Given the description of an element on the screen output the (x, y) to click on. 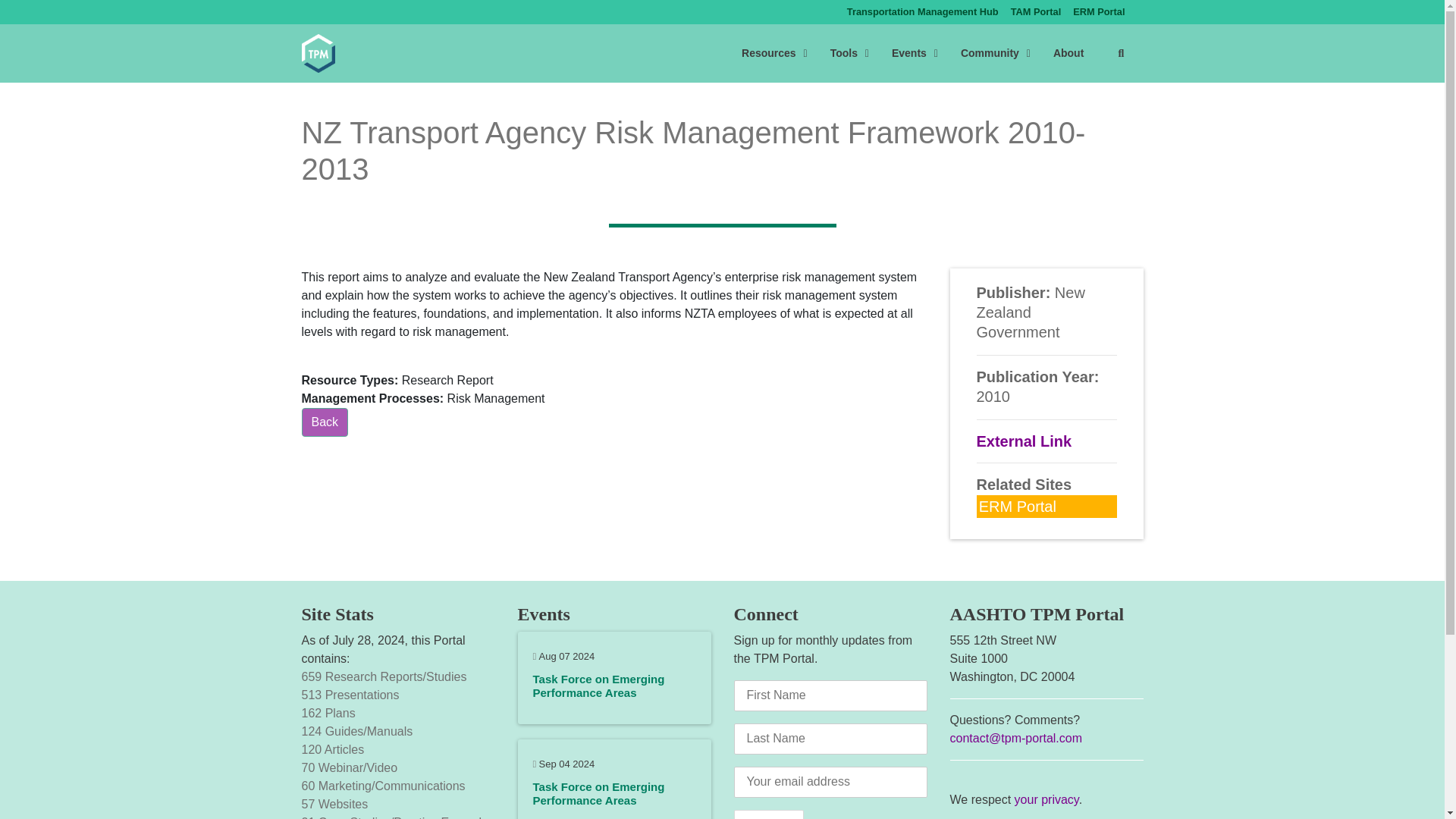
TAM Portal (1035, 12)
ERM Portal (1099, 12)
Back (325, 421)
Sign up (769, 814)
Transportation Management Hub (922, 12)
Search (1119, 53)
Transportation Management Hub (922, 12)
TAM Portal (934, 53)
ERM Portal (1035, 12)
